Given the description of an element on the screen output the (x, y) to click on. 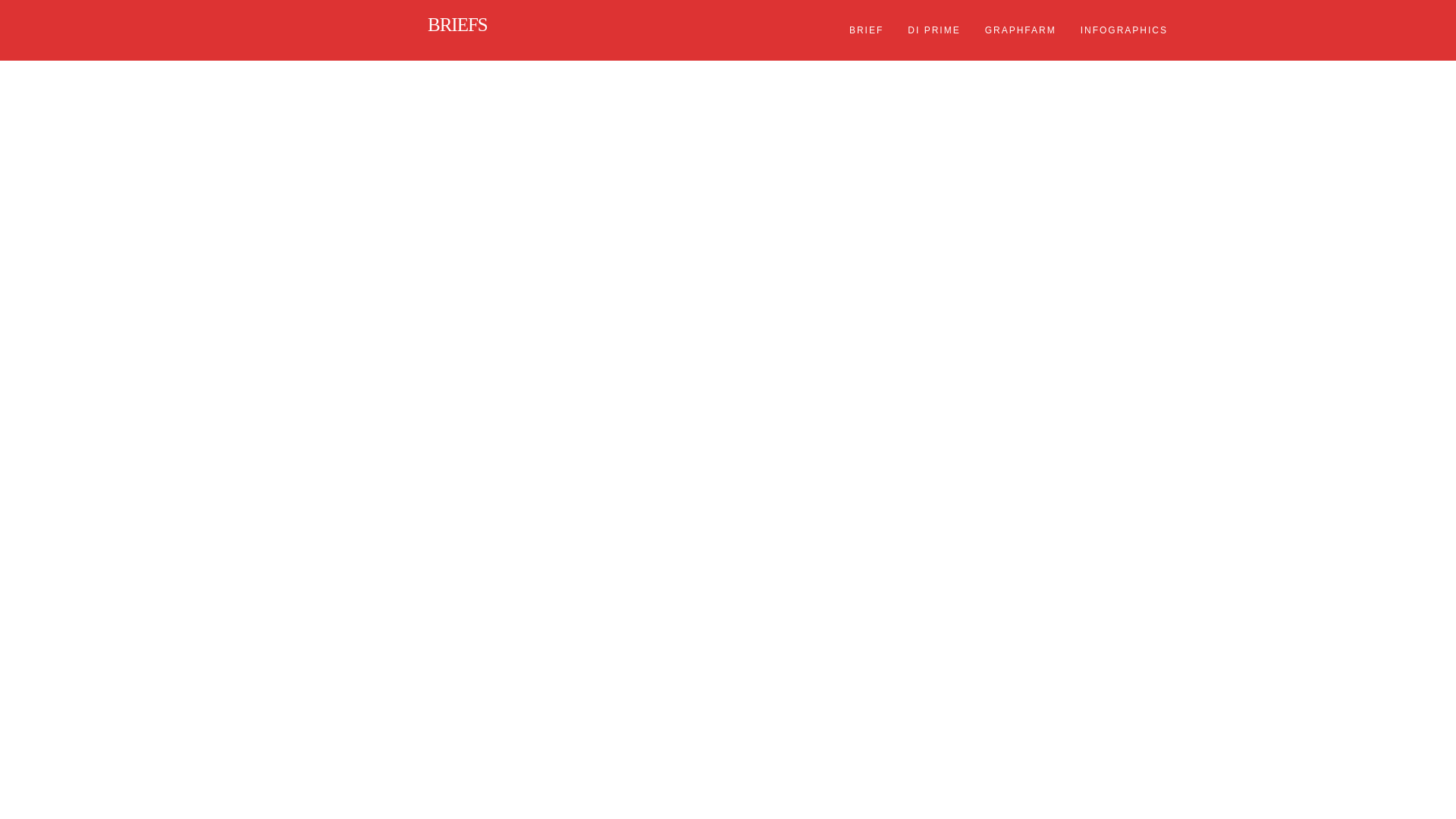
BRIEFS (381, 29)
